Given the description of an element on the screen output the (x, y) to click on. 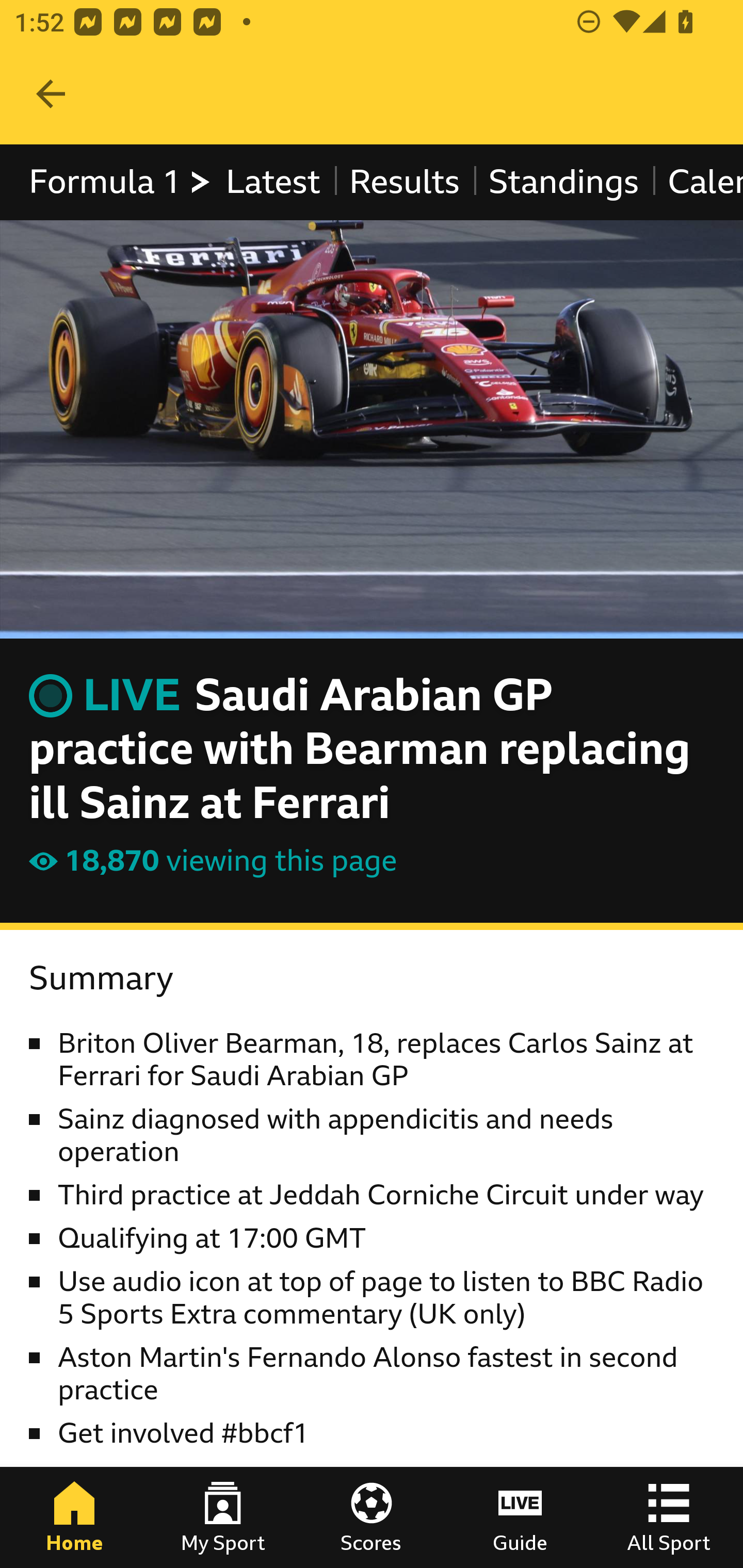
Navigate up (50, 93)
Formula 1  (120, 181)
Latest (272, 181)
Results (403, 181)
Standings (564, 181)
My Sport (222, 1517)
Scores (371, 1517)
Guide (519, 1517)
All Sport (668, 1517)
